Given the description of an element on the screen output the (x, y) to click on. 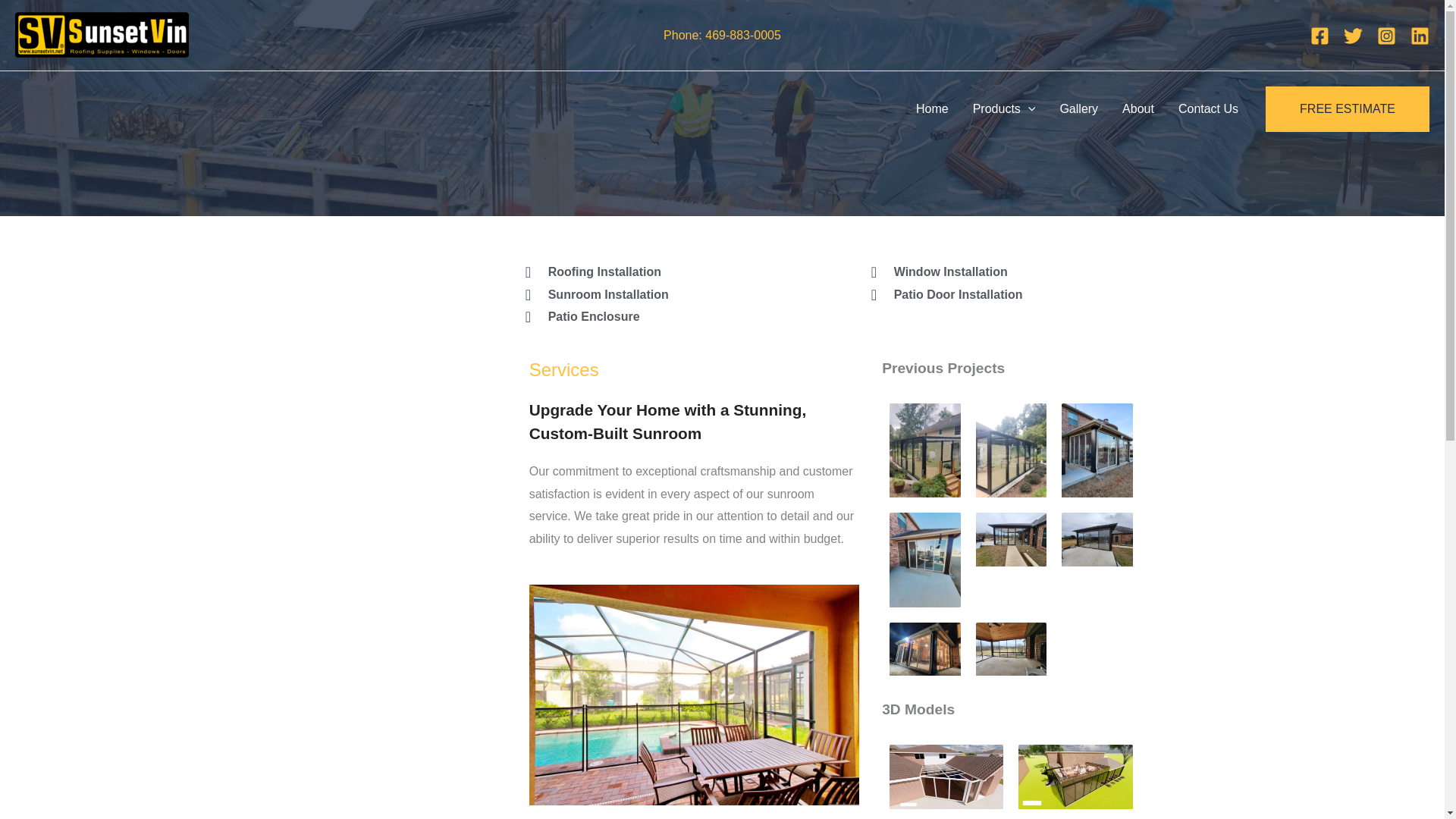
About (1137, 108)
Patio Door Installation (1003, 294)
Patio Enclosure (683, 316)
Products (1004, 108)
Gallery (1077, 108)
Contact Us (1208, 108)
Sunroom Installation (680, 294)
FREE ESTIMATE (1347, 108)
Roofing Installation (680, 272)
Window Installation (1003, 272)
Home (932, 108)
